Given the description of an element on the screen output the (x, y) to click on. 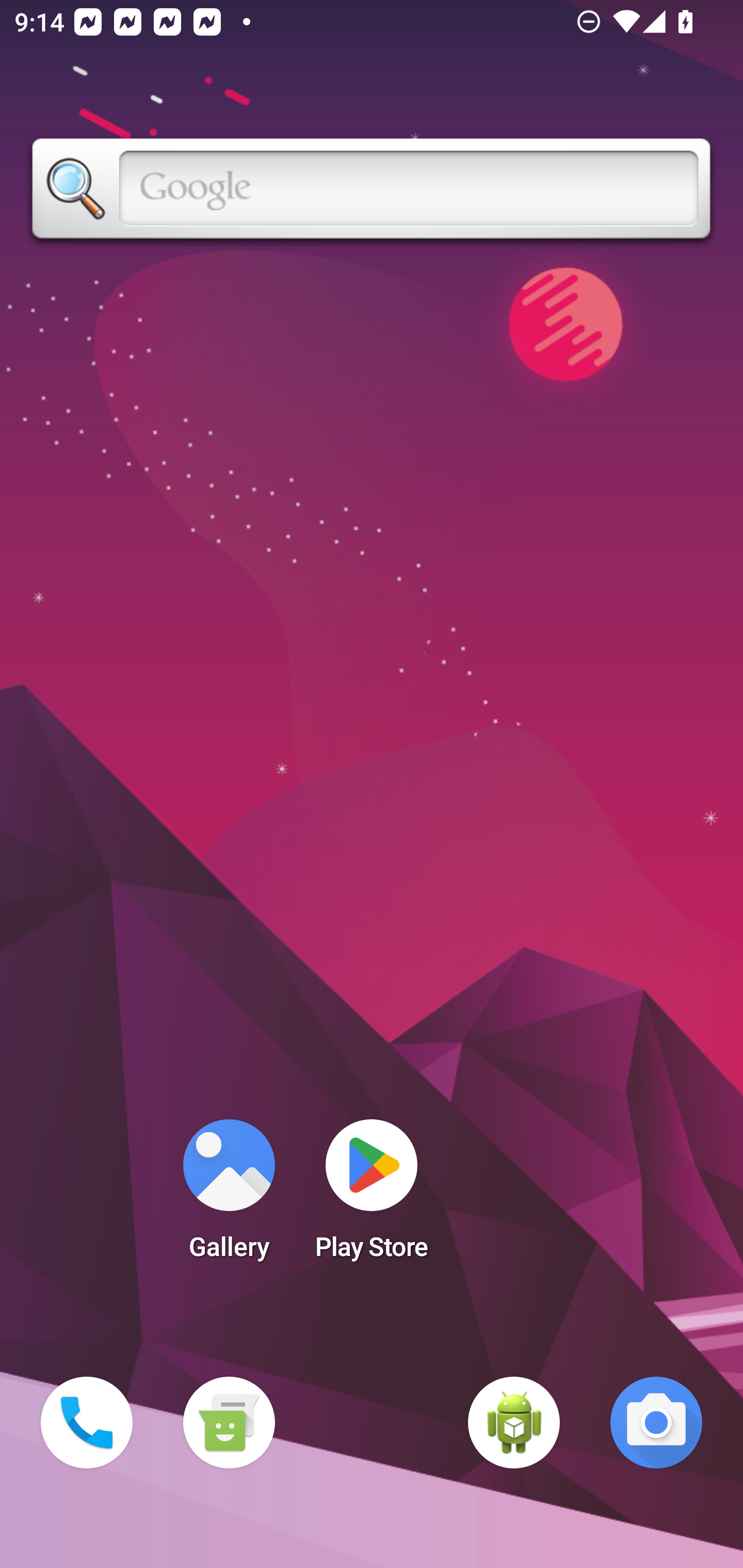
Gallery (228, 1195)
Play Store (371, 1195)
Phone (86, 1422)
Messaging (228, 1422)
WebView Browser Tester (513, 1422)
Camera (656, 1422)
